Given the description of an element on the screen output the (x, y) to click on. 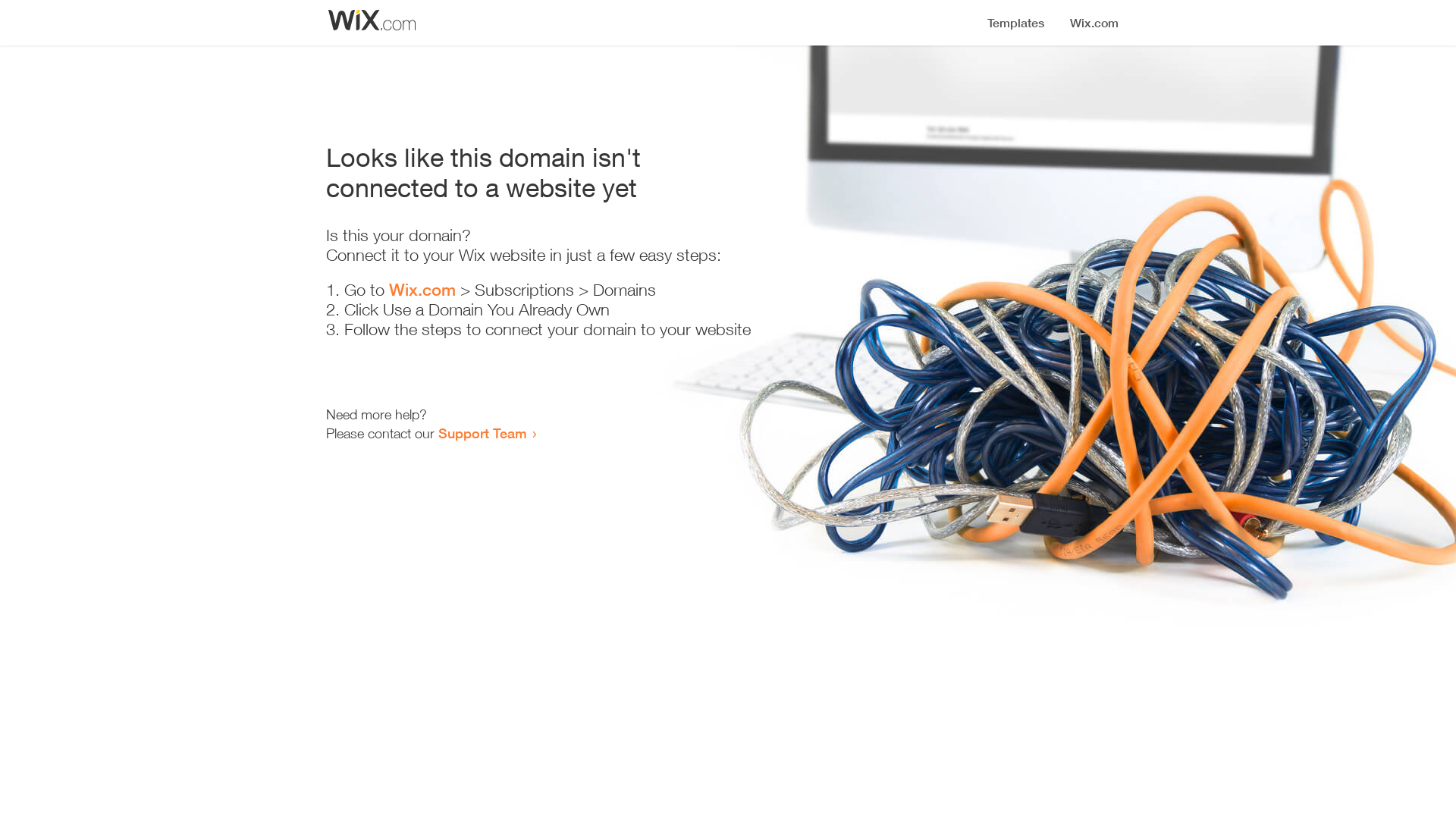
Support Team Element type: text (482, 432)
Wix.com Element type: text (422, 289)
